Given the description of an element on the screen output the (x, y) to click on. 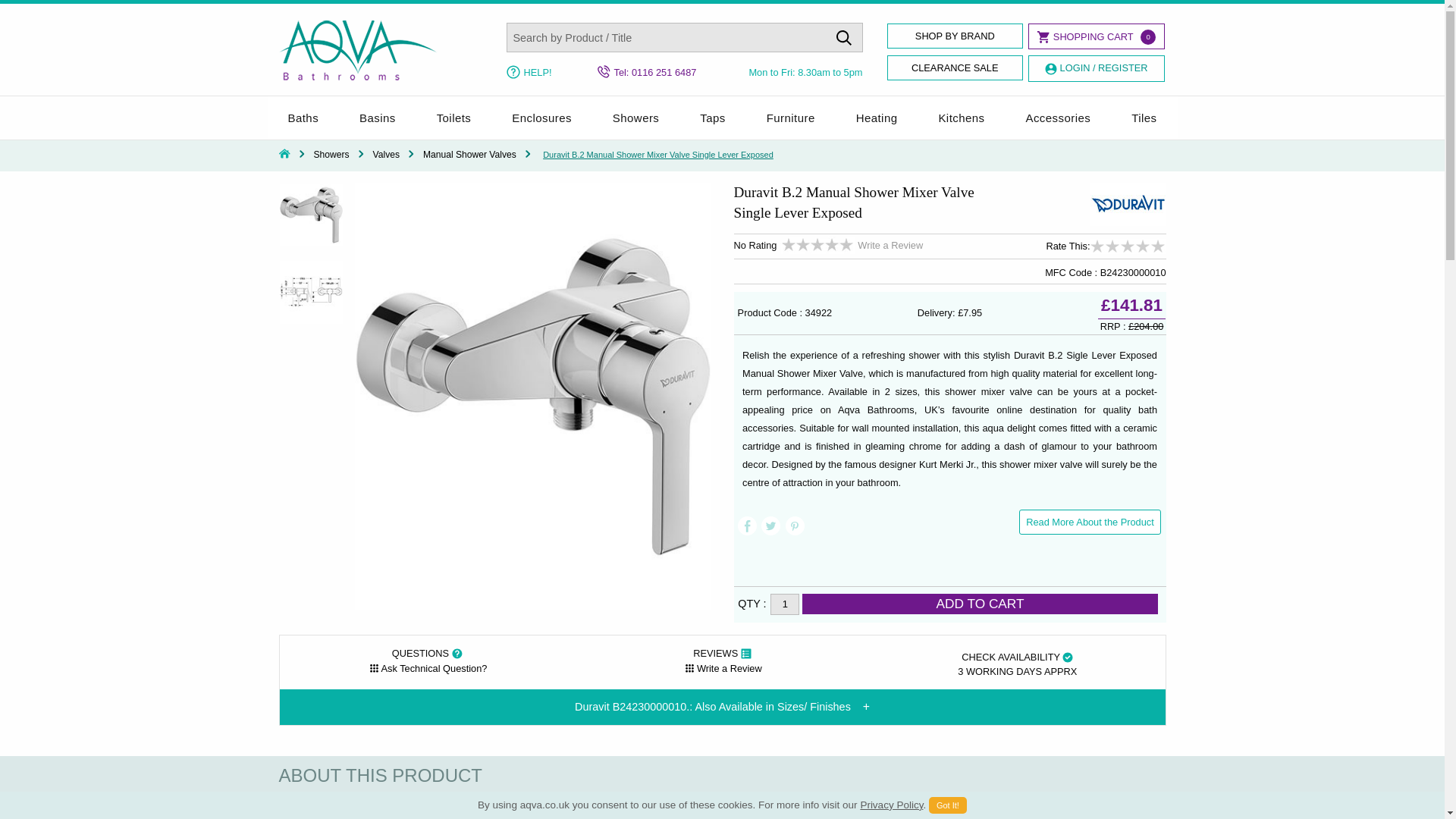
CLEARANCE SALE (954, 67)
Basins (377, 117)
Baths (303, 117)
SHOPPING CART 0 (1095, 36)
1 (784, 604)
Baths (303, 117)
SHOP BY BRAND (954, 35)
Basins (377, 117)
